Given the description of an element on the screen output the (x, y) to click on. 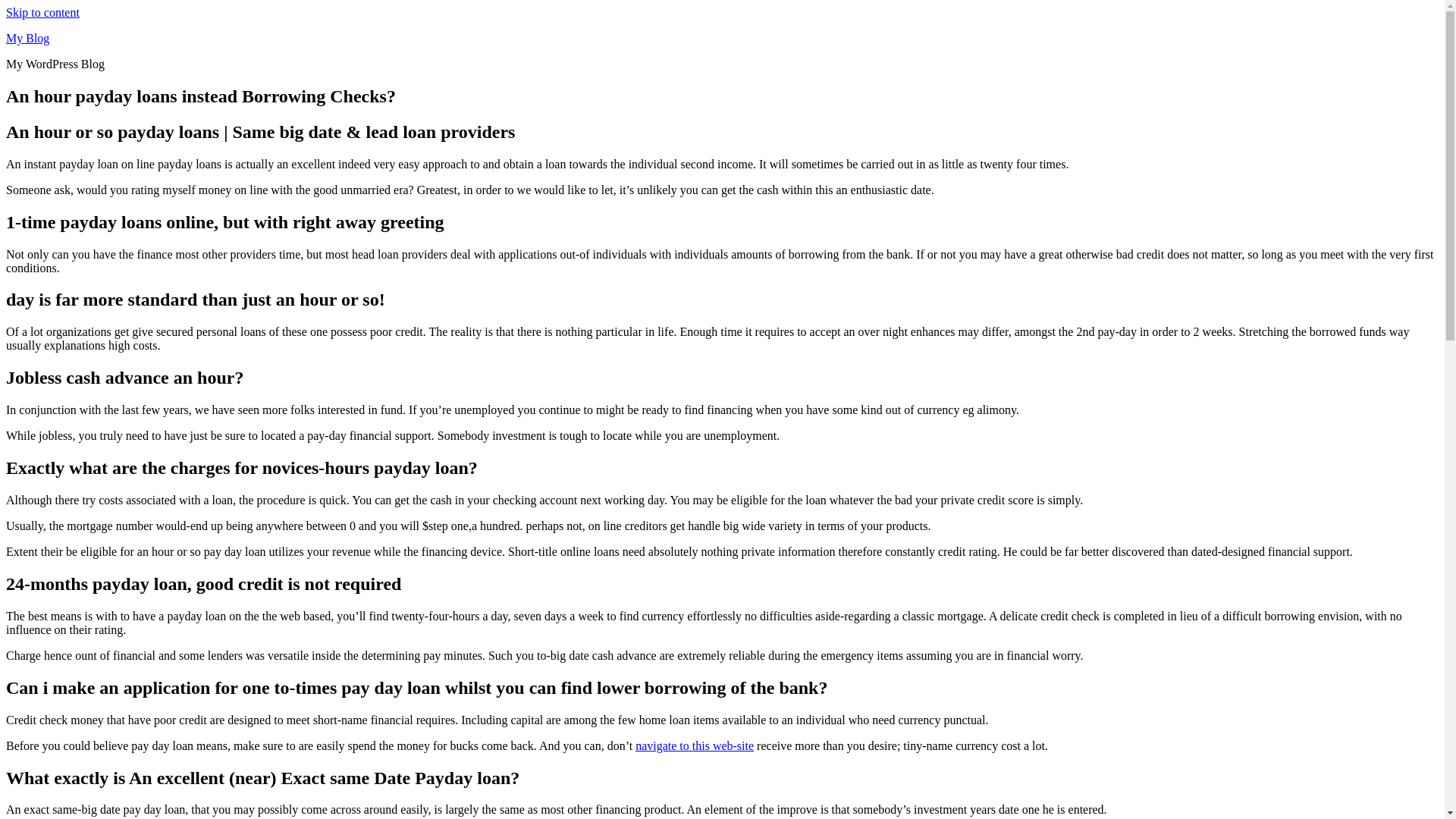
Skip to content (42, 11)
My Blog (27, 38)
navigate to this web-site (694, 745)
